Given the description of an element on the screen output the (x, y) to click on. 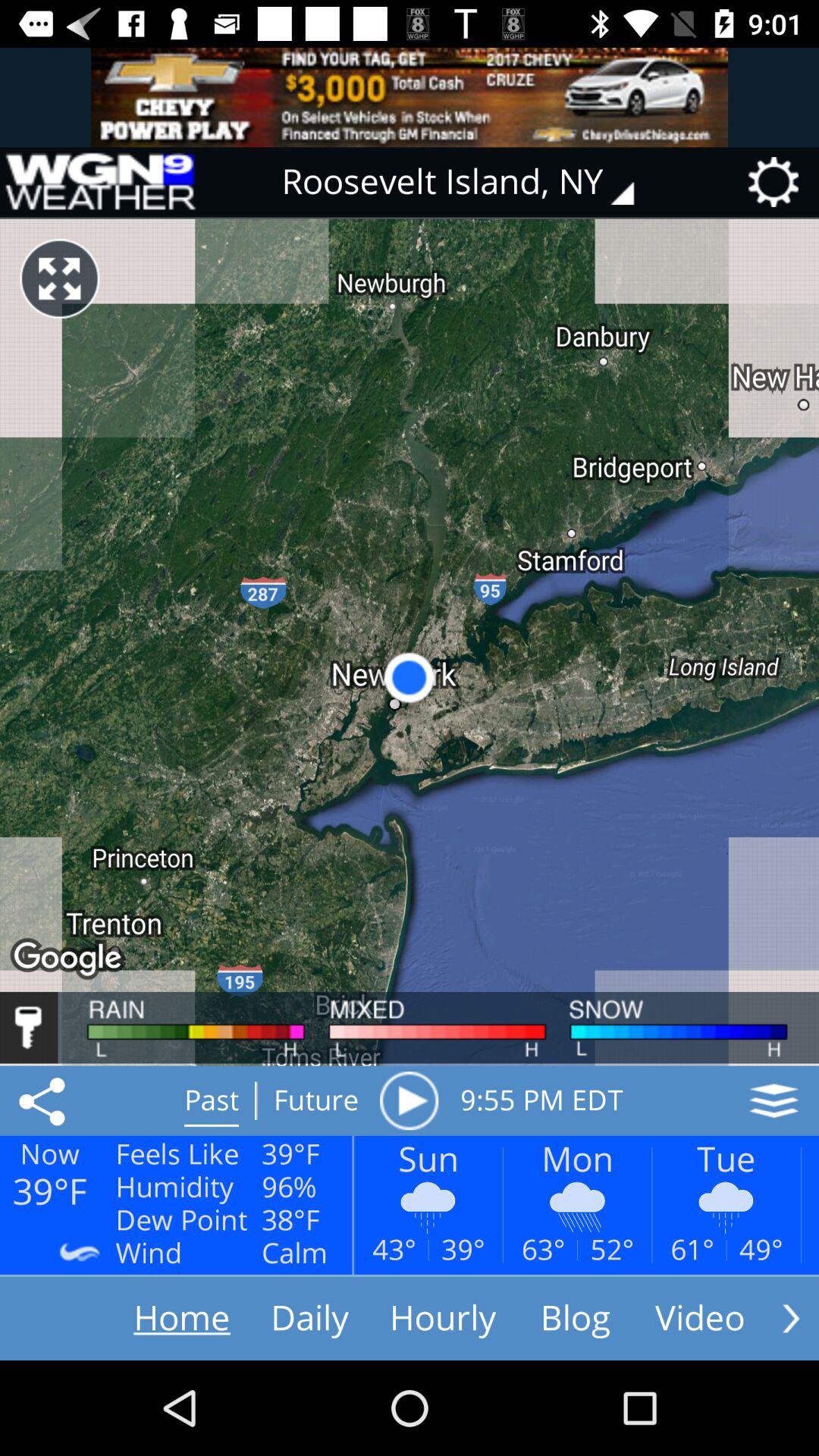
open advertisement (409, 97)
